Given the description of an element on the screen output the (x, y) to click on. 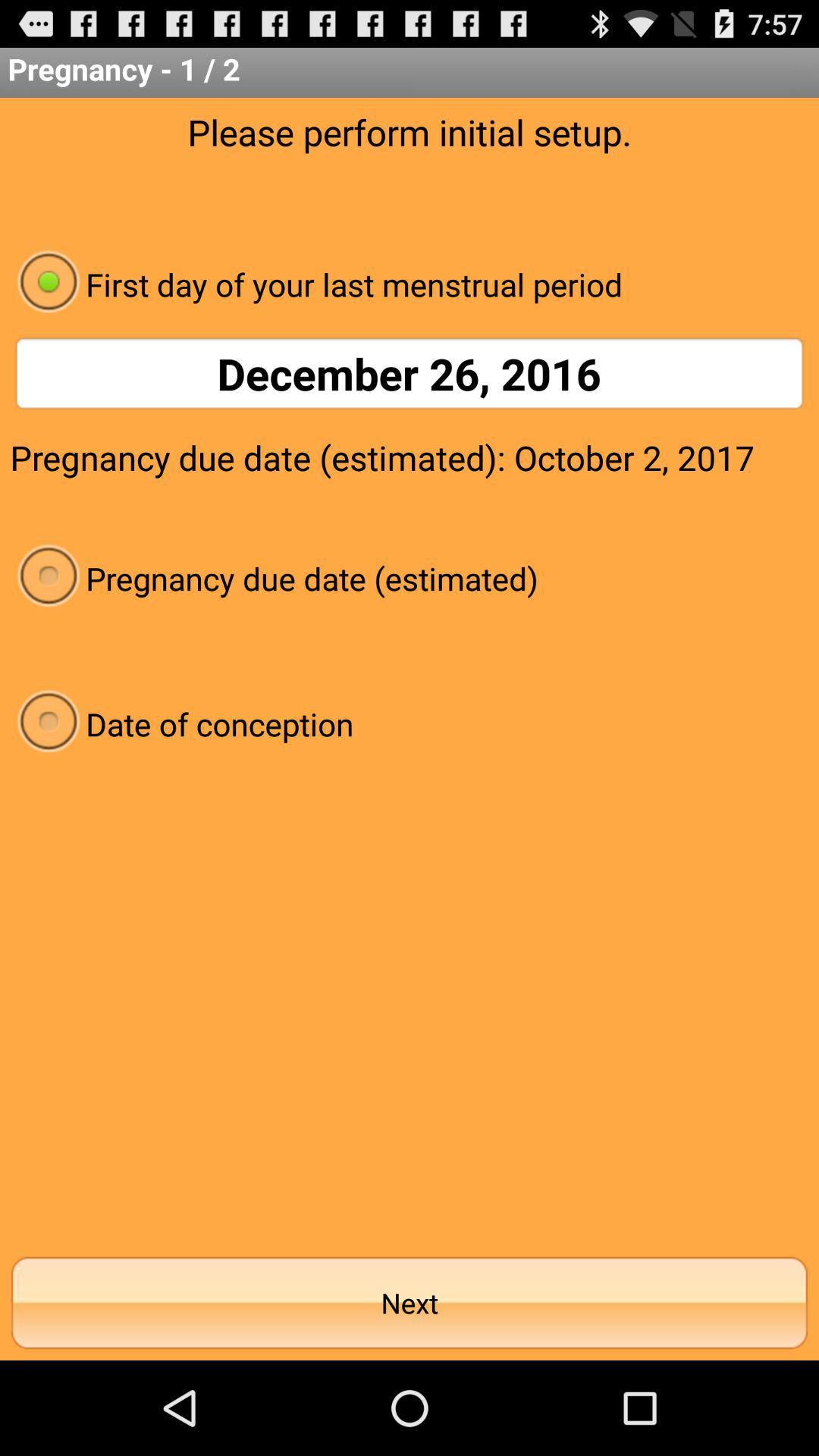
click the item below the first day of radio button (409, 373)
